Given the description of an element on the screen output the (x, y) to click on. 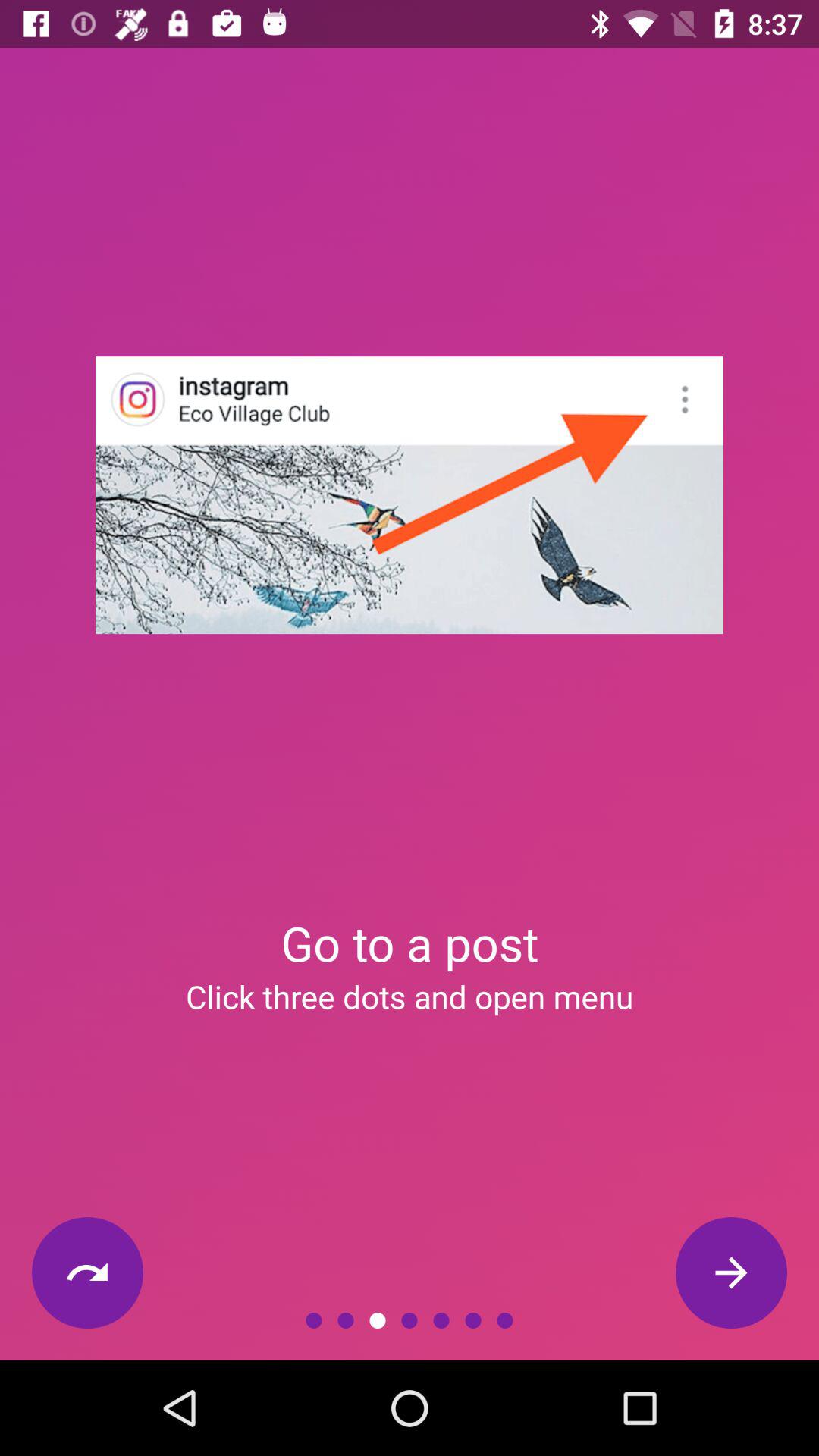
tap the item at the bottom left corner (87, 1272)
